Given the description of an element on the screen output the (x, y) to click on. 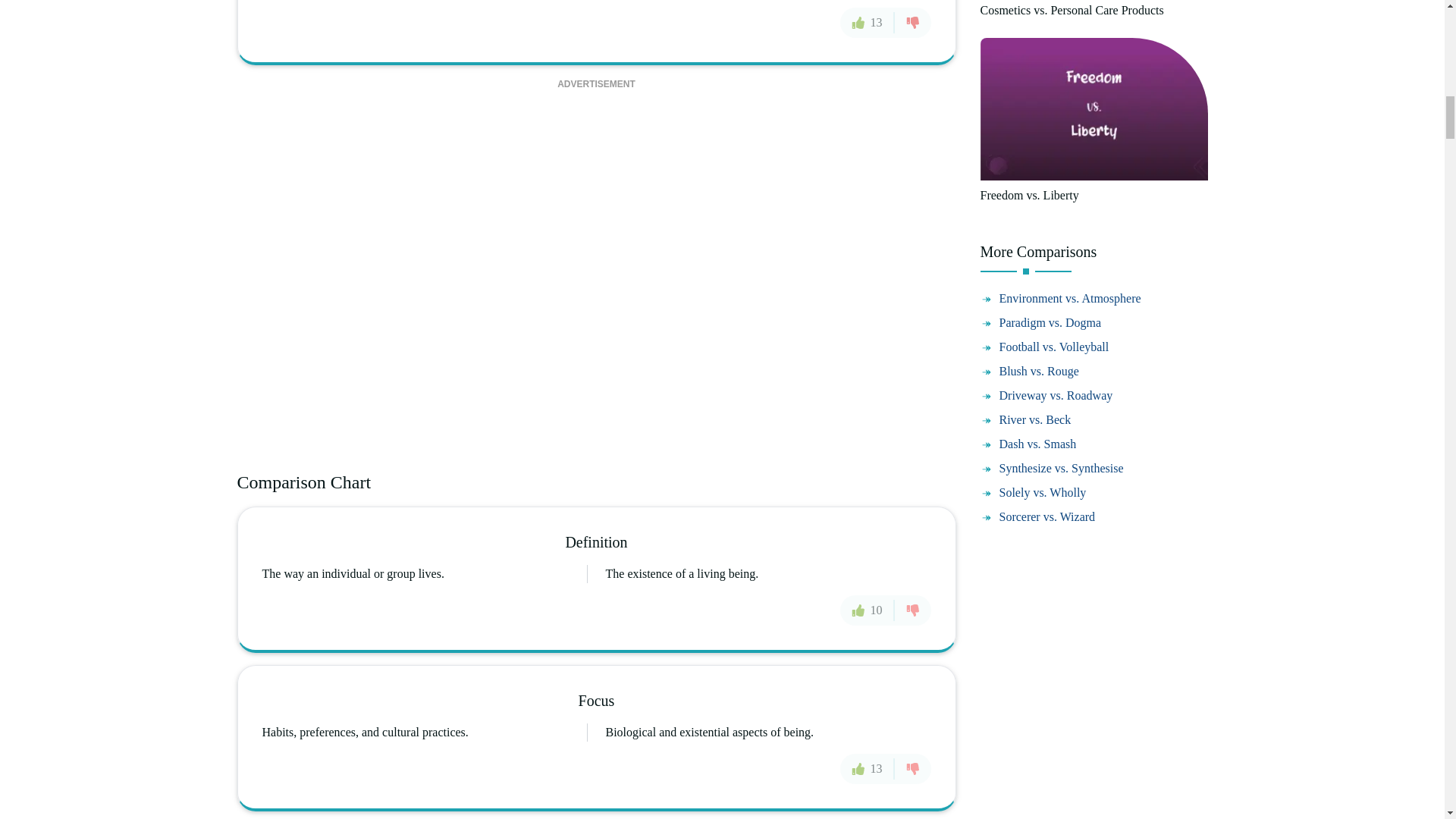
10 (867, 609)
13 (867, 22)
13 (867, 768)
